Given the description of an element on the screen output the (x, y) to click on. 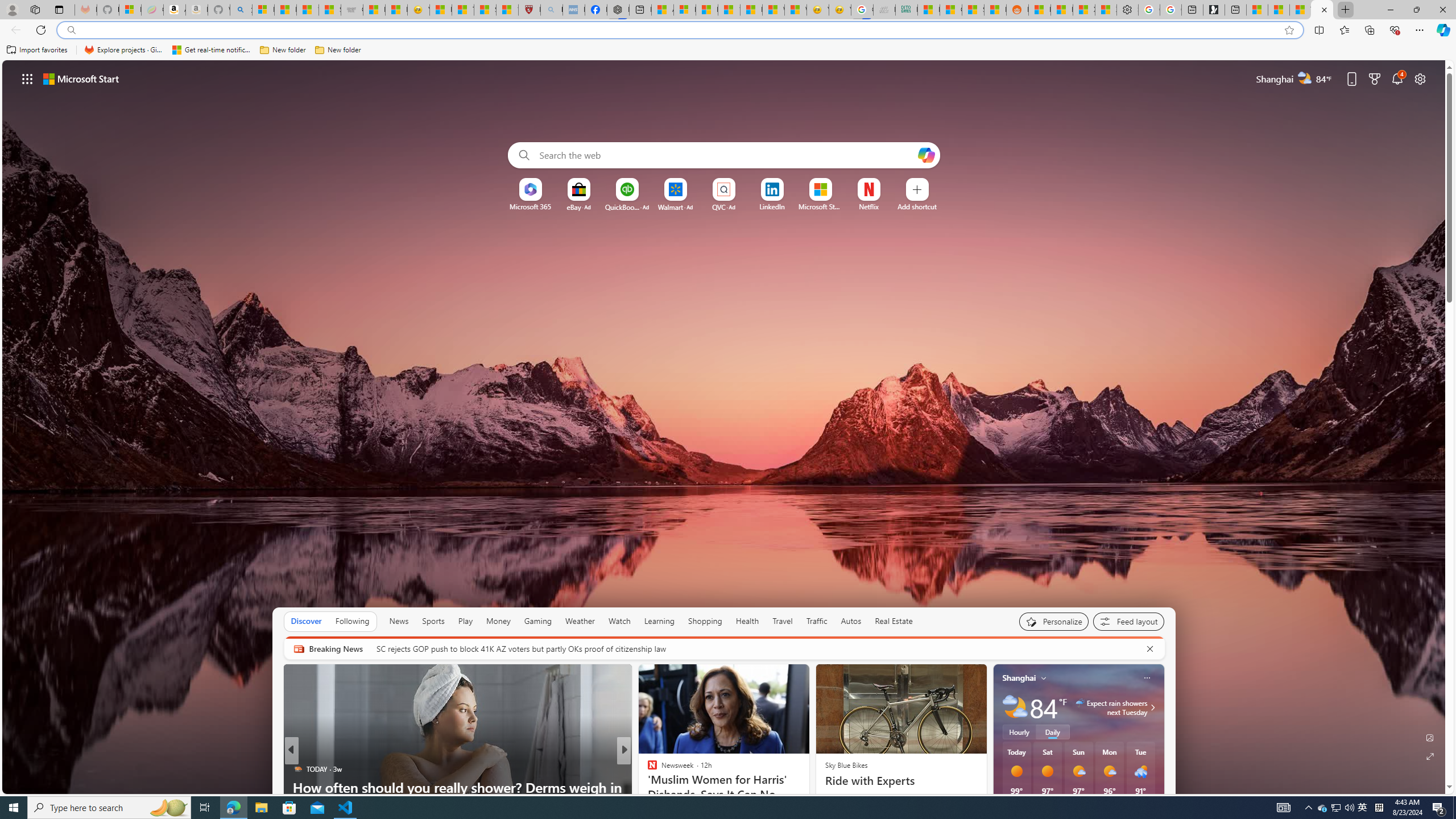
Real Estate (893, 621)
My location (1043, 677)
Real Estate (893, 621)
New folder (337, 49)
12 Popular Science Lies that Must be Corrected (507, 9)
50 Hygiene Tips We Assumed Everyone Did, But We Were Wrong (807, 796)
Health (746, 621)
Cancel (1150, 648)
